Given the description of an element on the screen output the (x, y) to click on. 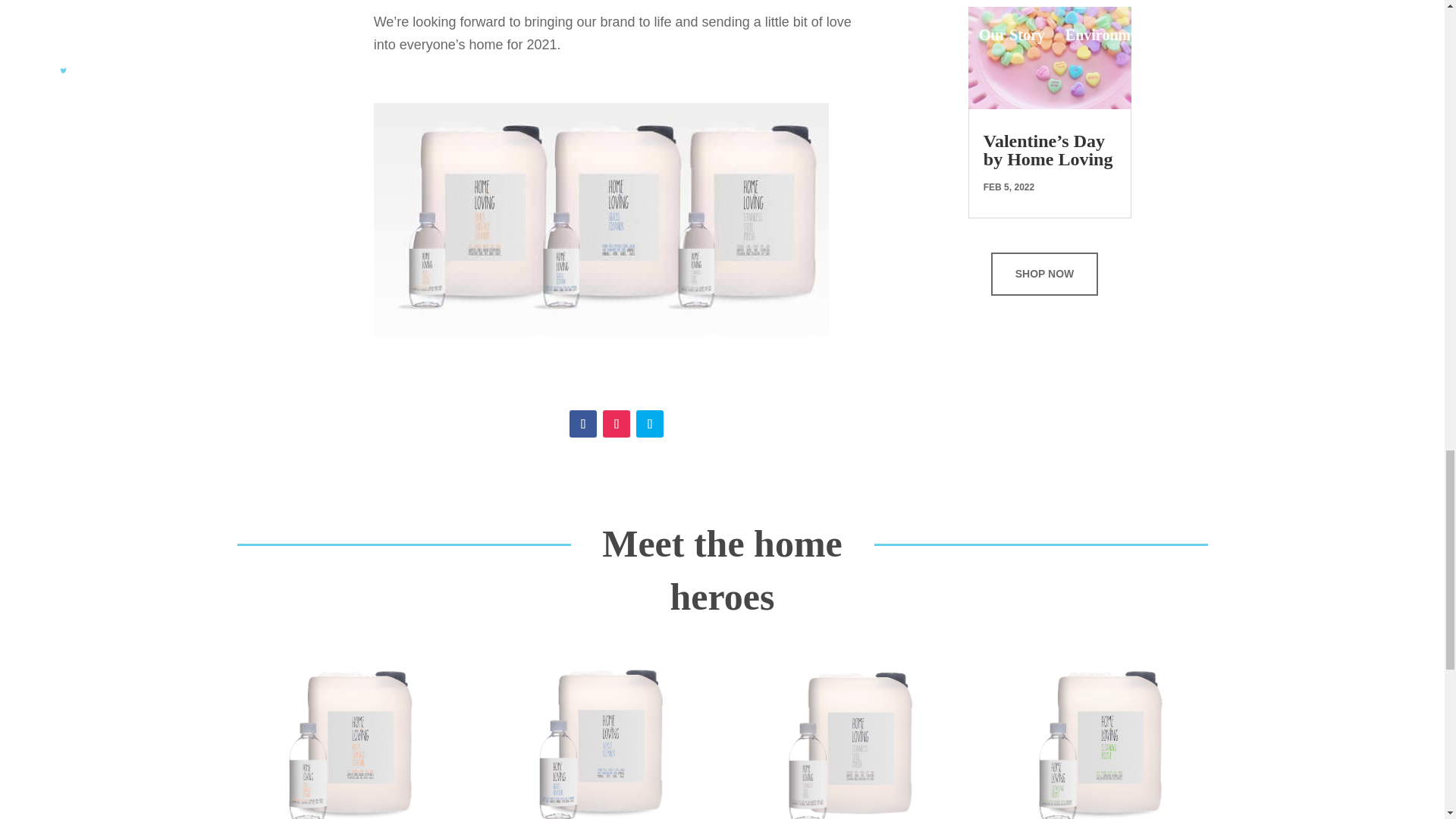
Follow on Facebook (582, 423)
SHOP NOW (1045, 274)
Follow on Twitter (649, 423)
Home Loving Ingredients Banner Image (601, 219)
Follow on Instagram (616, 423)
